Given the description of an element on the screen output the (x, y) to click on. 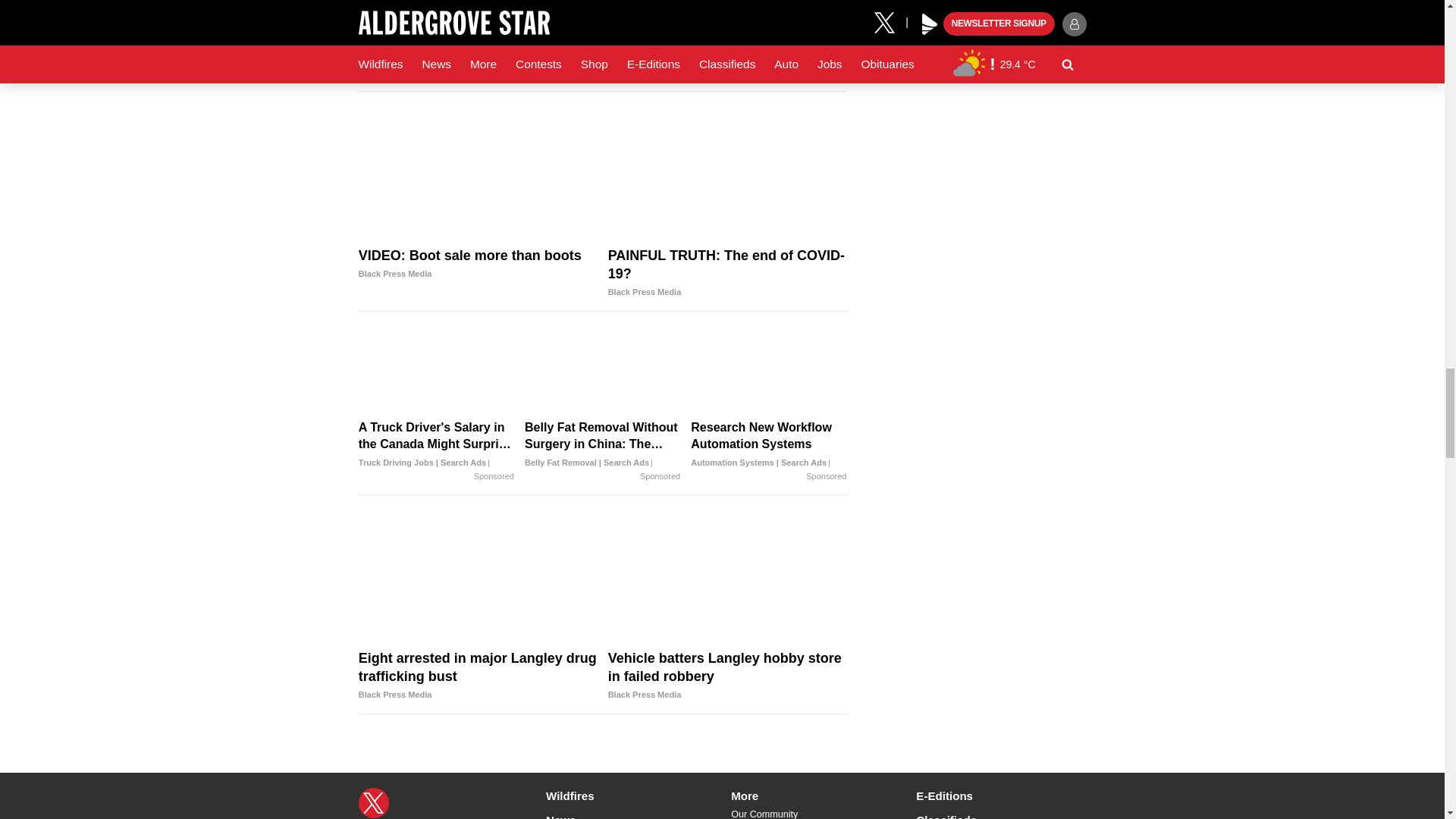
"Description: Play this game for free. No Installation." (602, 30)
If you own a mouse, play it for 1 minute. (436, 30)
